Given the description of an element on the screen output the (x, y) to click on. 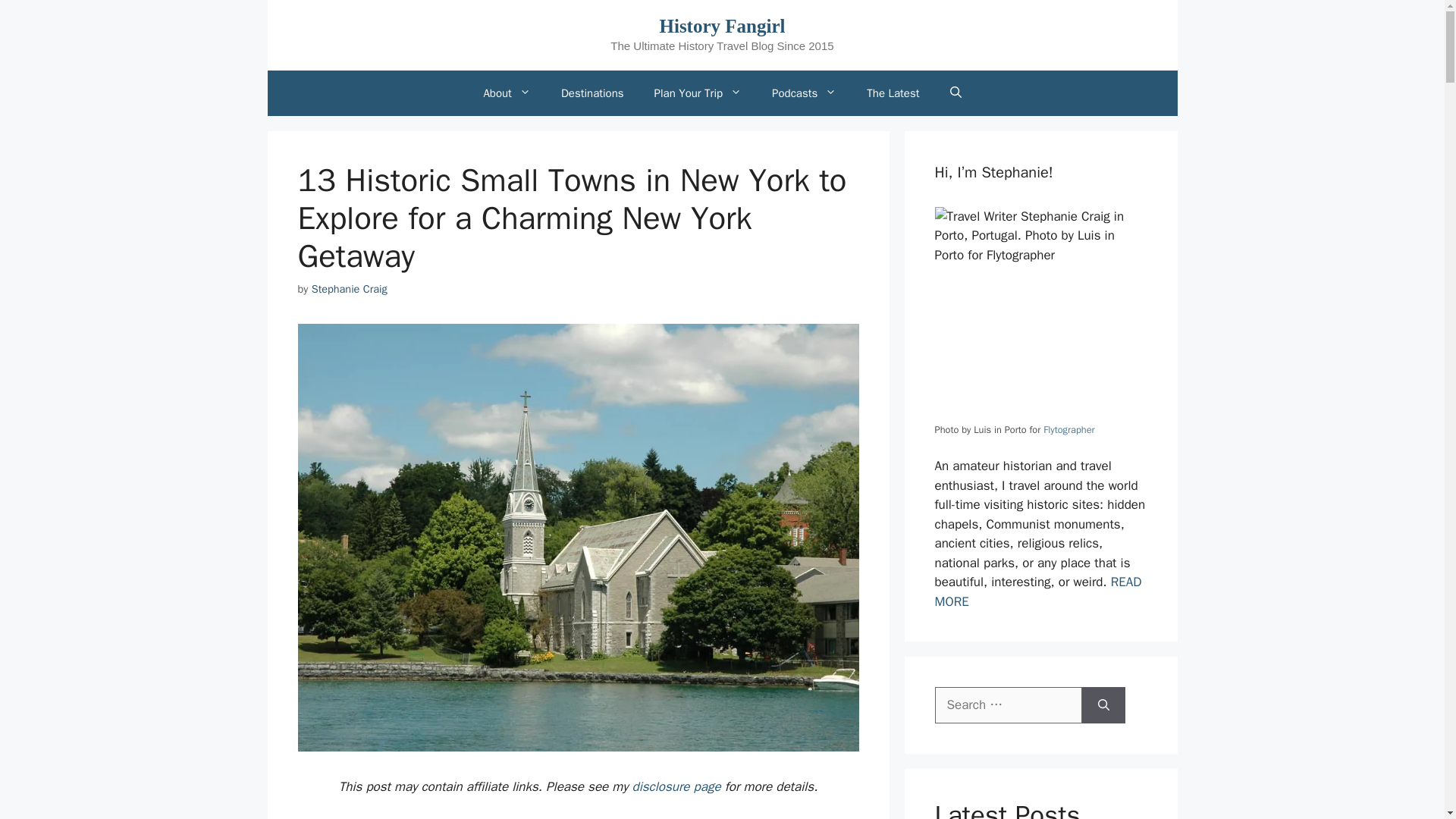
Plan Your Trip (698, 92)
About (505, 92)
History Fangirl (722, 25)
View all posts by Stephanie Craig (349, 288)
Destinations (592, 92)
